Given the description of an element on the screen output the (x, y) to click on. 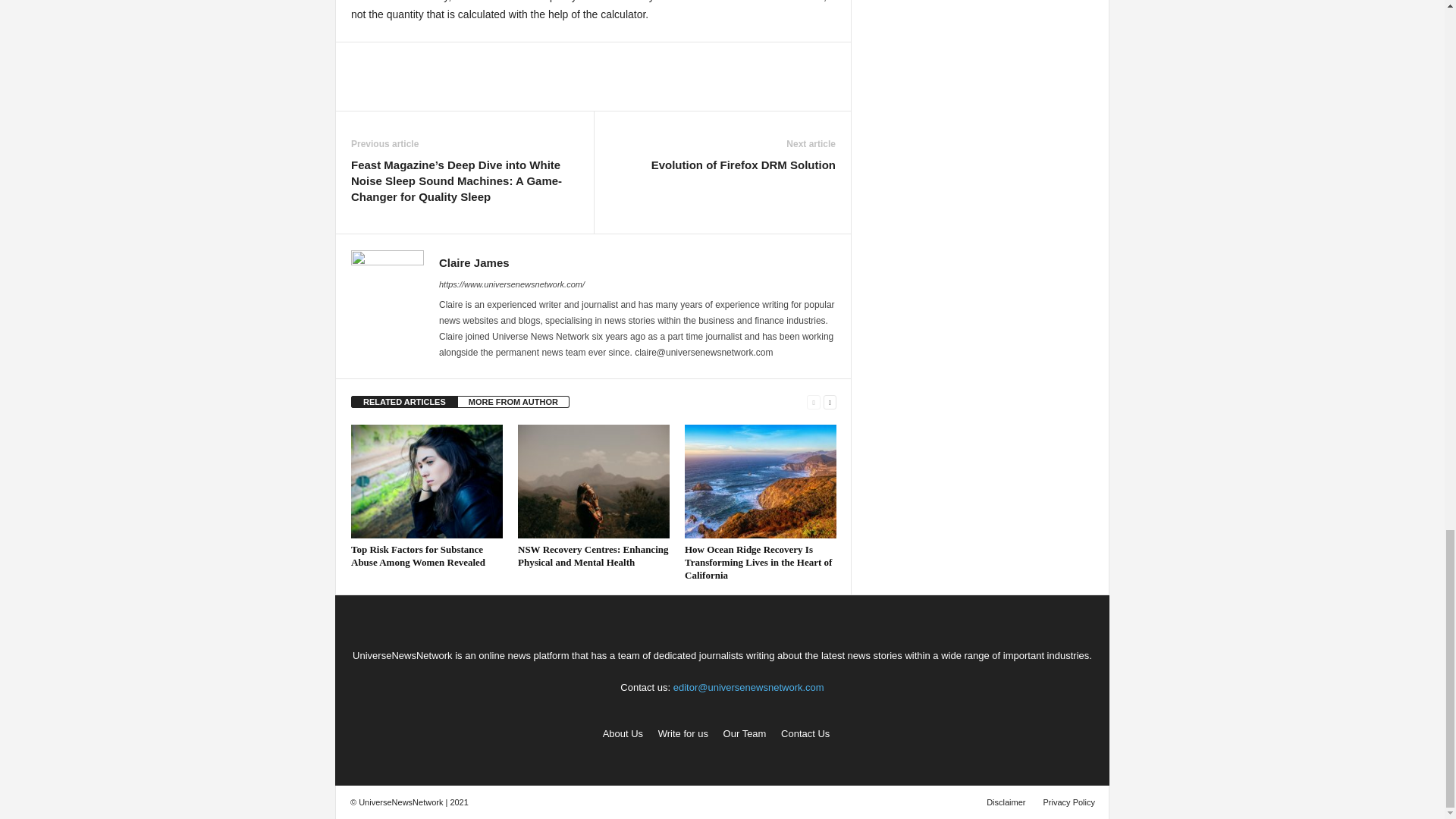
bottomFacebookLike (390, 57)
Evolution of Firefox DRM Solution (742, 164)
Claire James (474, 262)
